Given the description of an element on the screen output the (x, y) to click on. 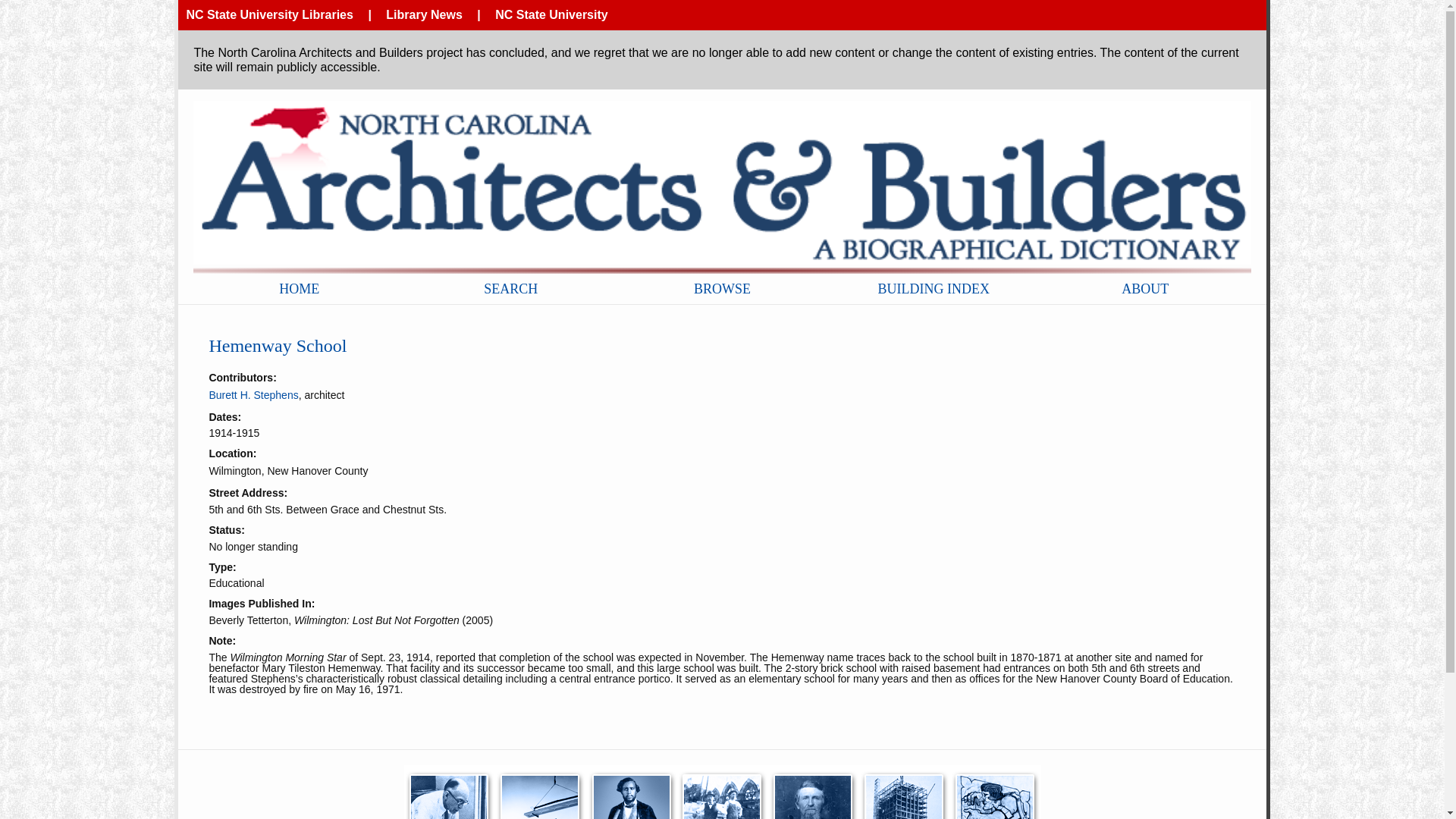
BUILDING INDEX (933, 288)
NC State University (551, 14)
BROWSE (722, 288)
NC State University Libraries (269, 14)
Hemenway School (277, 345)
HOME (298, 288)
Burett H. Stephens (253, 395)
Library News (423, 14)
SEARCH (510, 288)
